Given the description of an element on the screen output the (x, y) to click on. 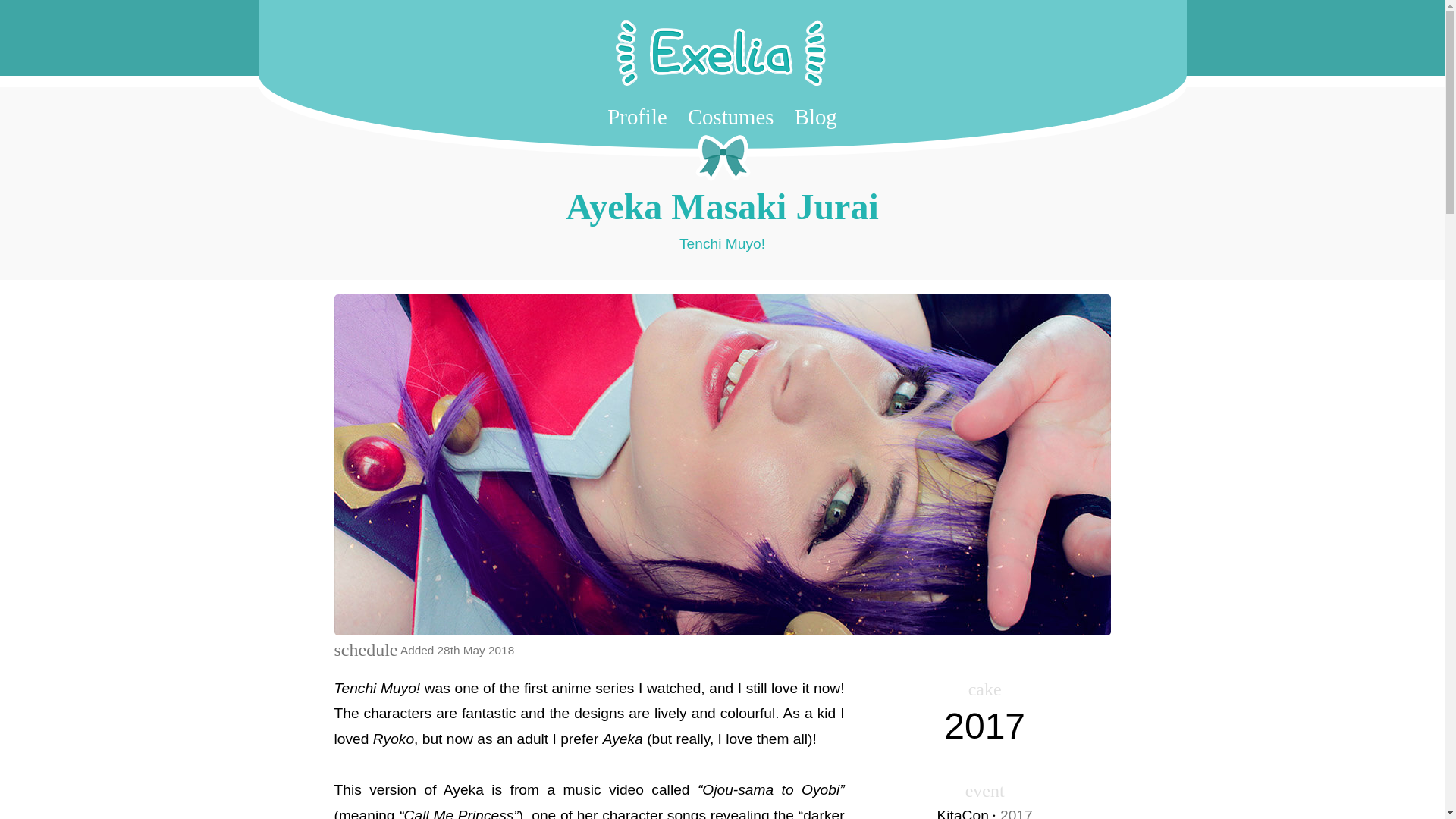
Profile (636, 116)
Costumes (730, 116)
This costume was made in 2017. (984, 726)
This costume was worn to KitaCon in 2017 (984, 811)
Blog (815, 116)
